Given the description of an element on the screen output the (x, y) to click on. 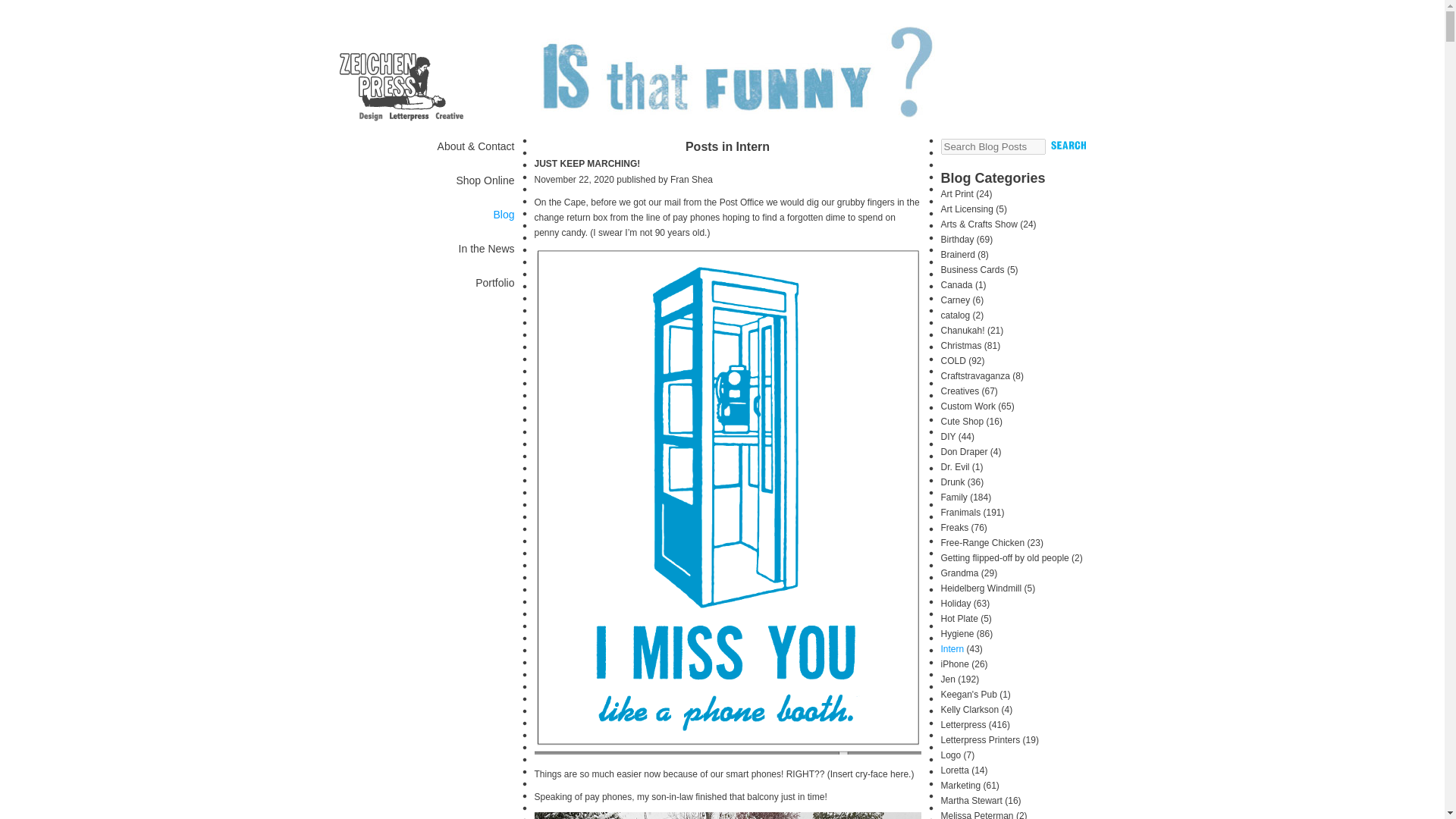
In the News (486, 248)
Blog (503, 214)
Search (1068, 144)
Search (1068, 144)
Shop Online (484, 180)
Search (1068, 144)
Portfolio (494, 282)
JUST KEEP MARCHING! (587, 163)
